Given the description of an element on the screen output the (x, y) to click on. 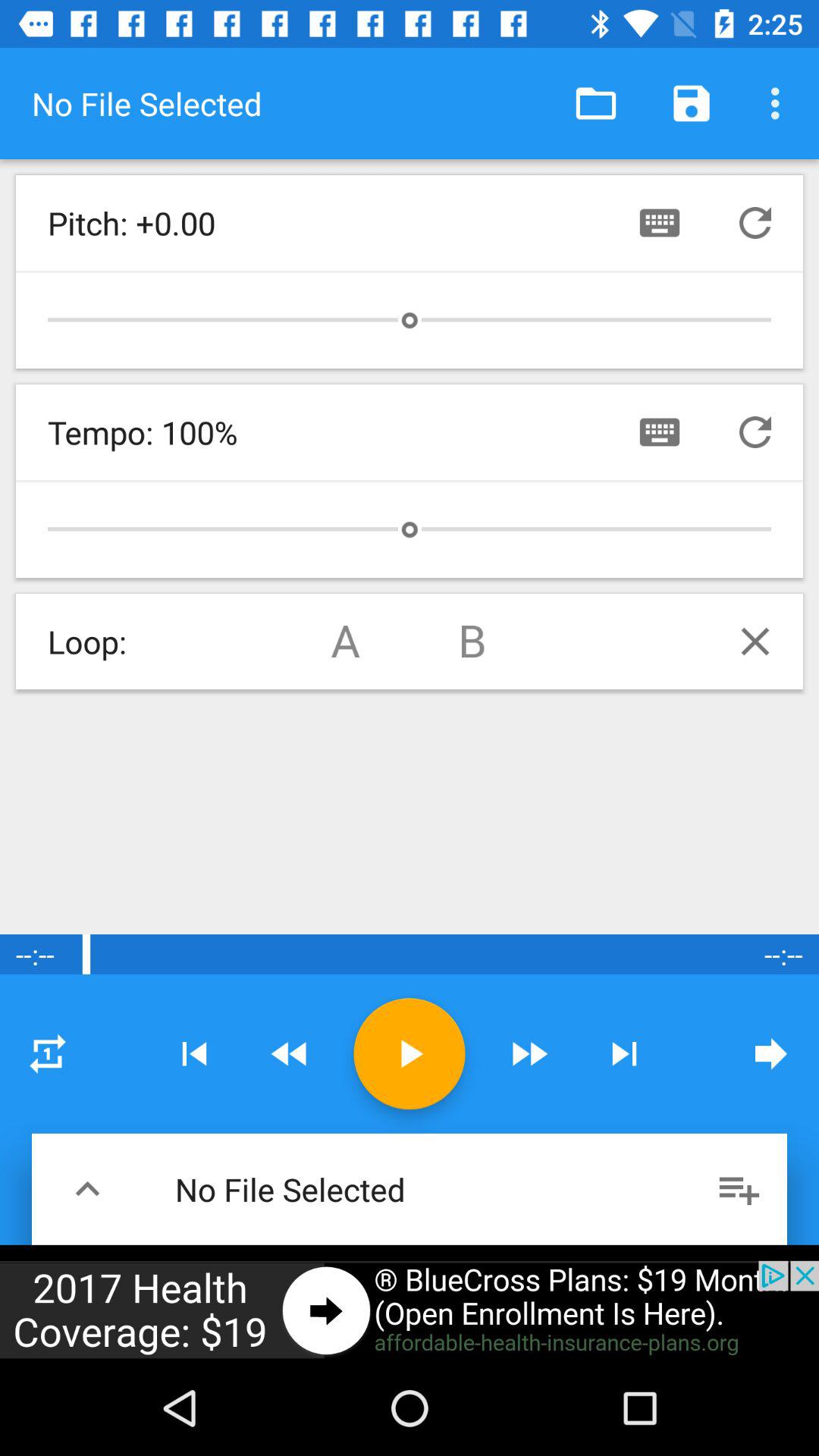
reload (755, 432)
